Given the description of an element on the screen output the (x, y) to click on. 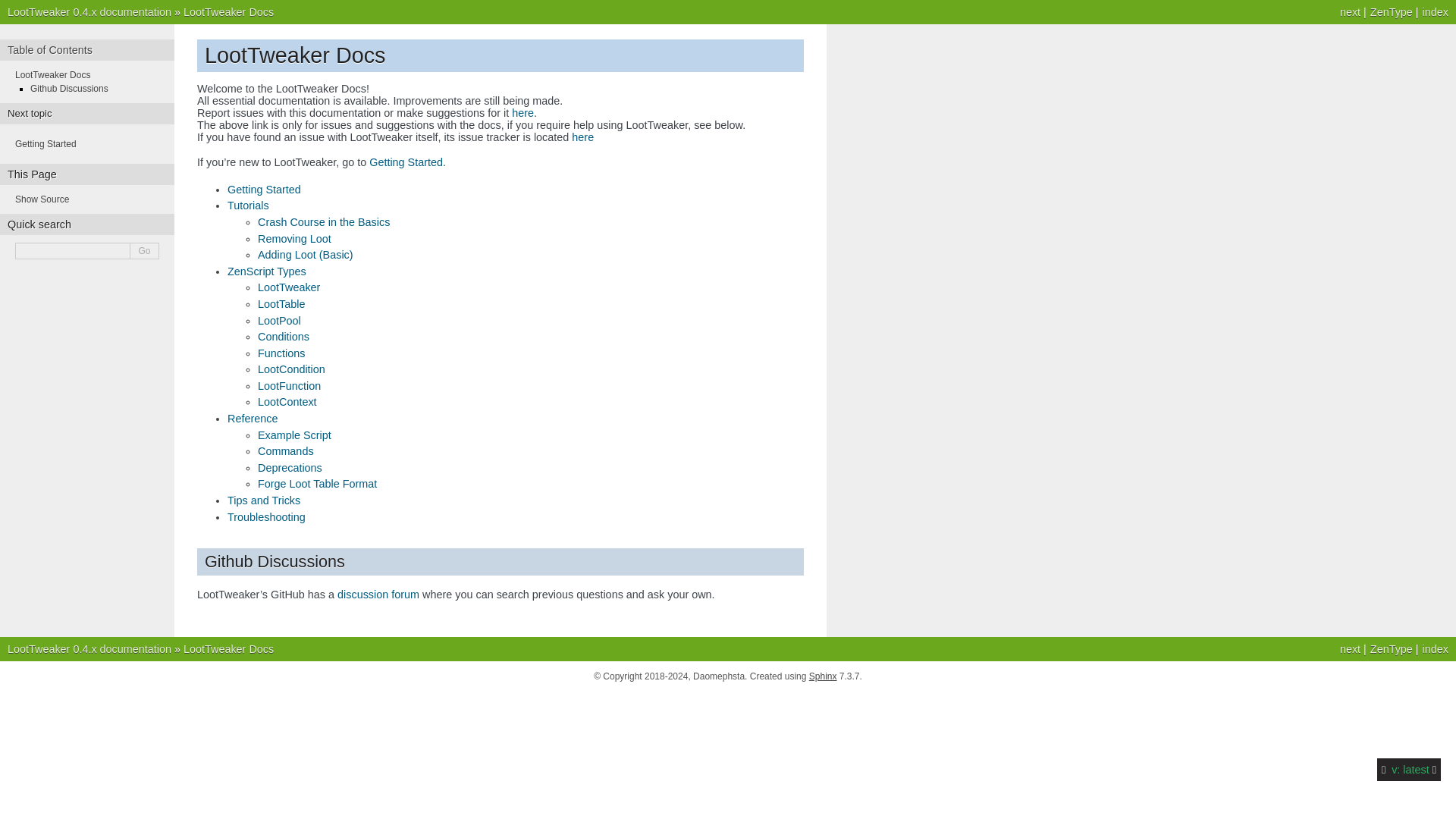
ZenType Index (1391, 11)
LootTweaker Docs (52, 74)
LootTweaker Docs (228, 11)
Table of Contents (50, 50)
here (523, 112)
ZenScript Types (266, 271)
Go (144, 250)
Show Source (41, 199)
Commands (285, 451)
next chapter (45, 143)
